Given the description of an element on the screen output the (x, y) to click on. 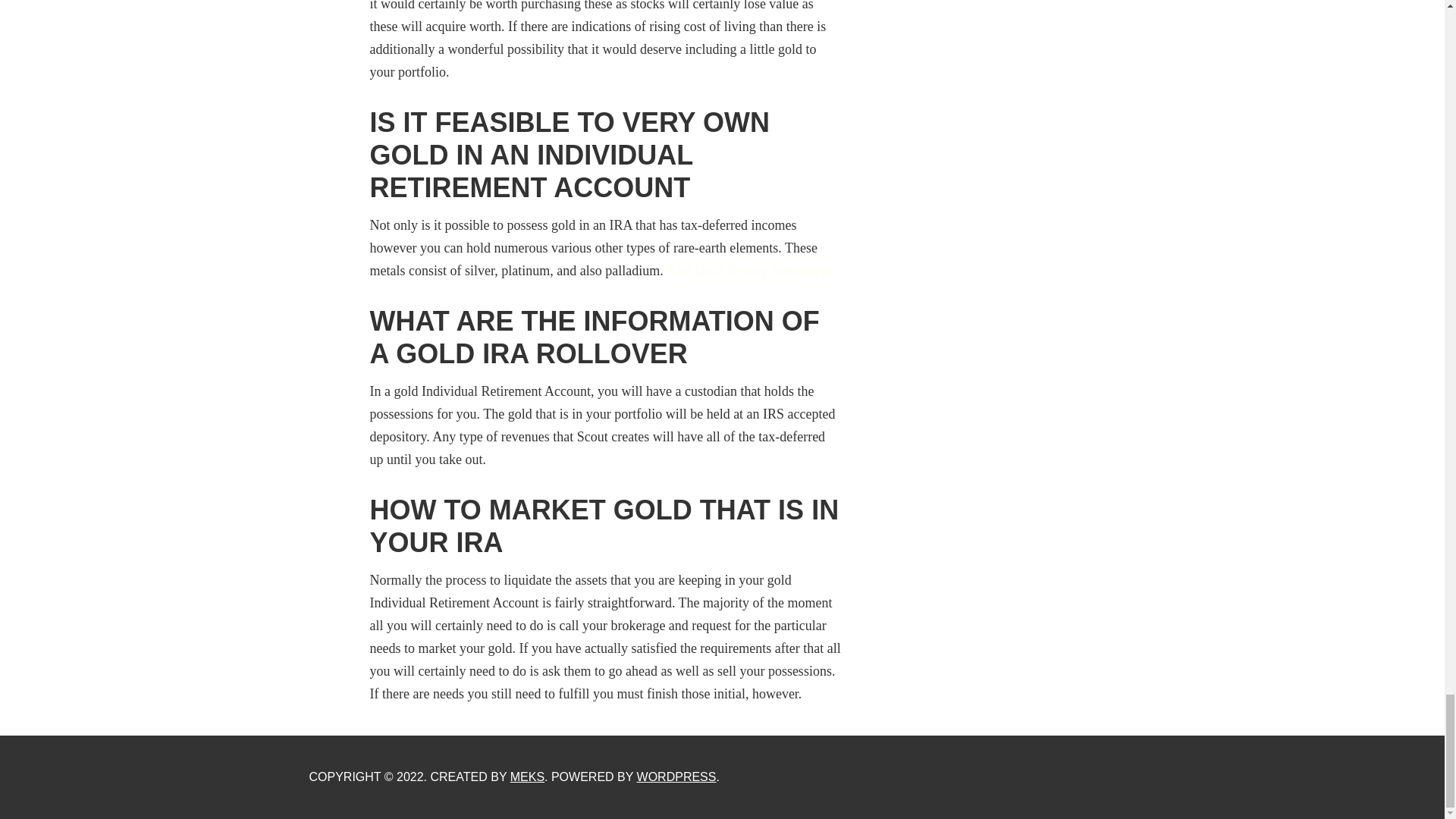
MEKS (527, 776)
WORDPRESS (676, 776)
